Given the description of an element on the screen output the (x, y) to click on. 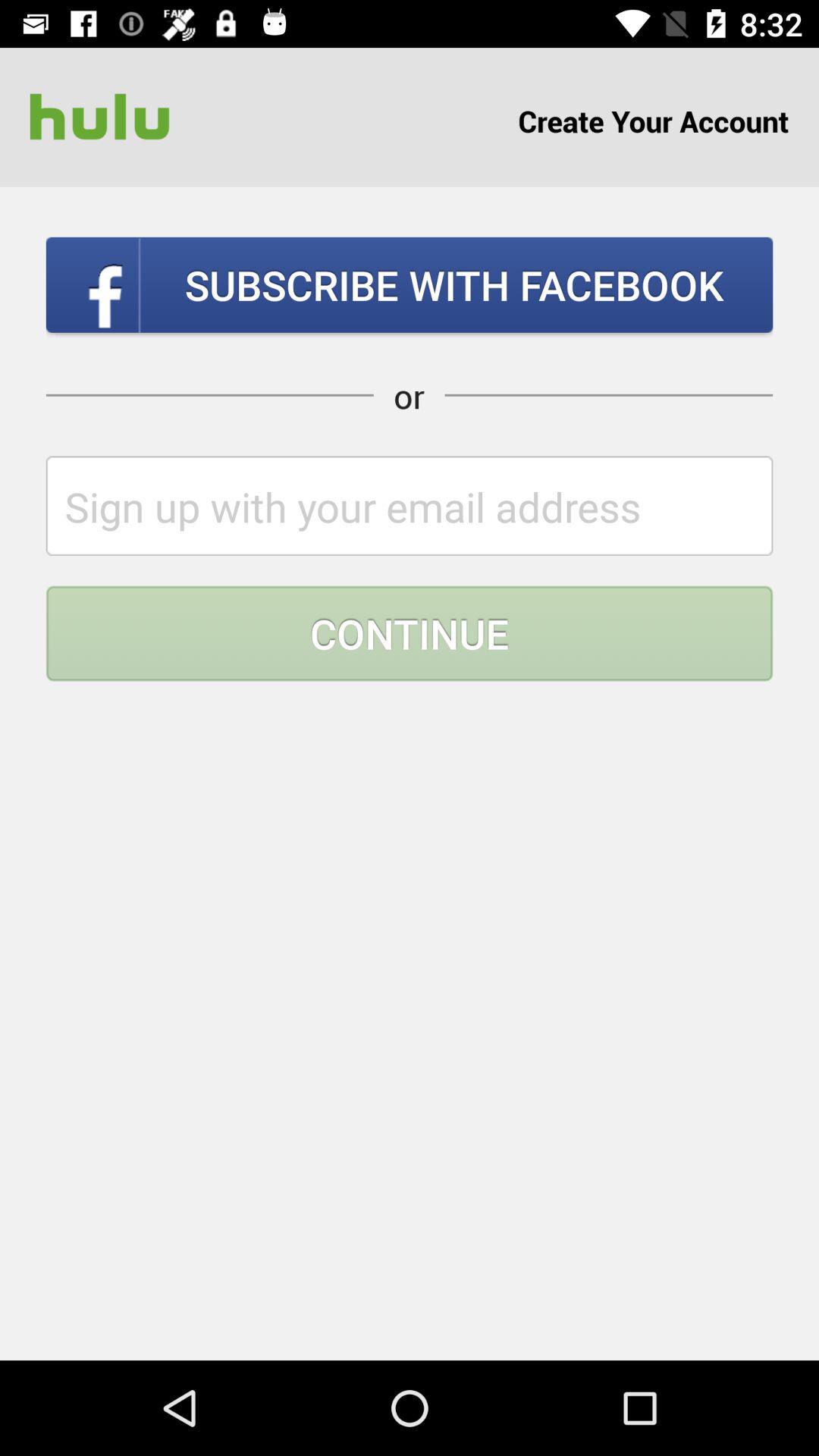
type email address (409, 505)
